Given the description of an element on the screen output the (x, y) to click on. 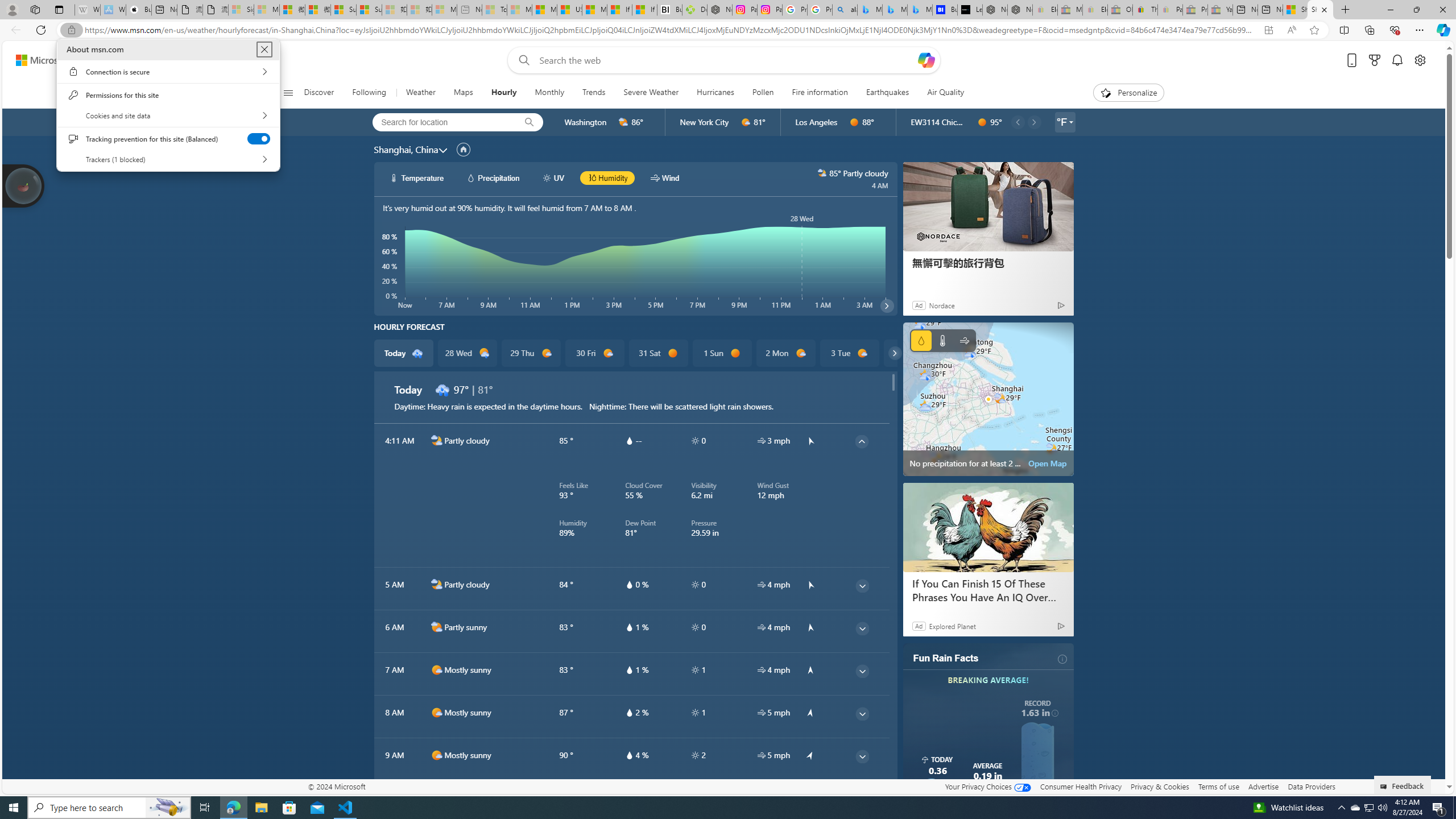
locationName/setHomeLocation (462, 149)
Start (13, 807)
Trackers (1 blocked) (167, 159)
hourlyChart/windWhite Wind (664, 178)
Tracking prevention for this site (Balanced) (258, 138)
Running applications (717, 807)
Trends (593, 92)
No precipitation for at least 2 hours (988, 398)
Weather (420, 92)
Action Center, 1 new notification (1439, 807)
d4300 (442, 389)
